Given the description of an element on the screen output the (x, y) to click on. 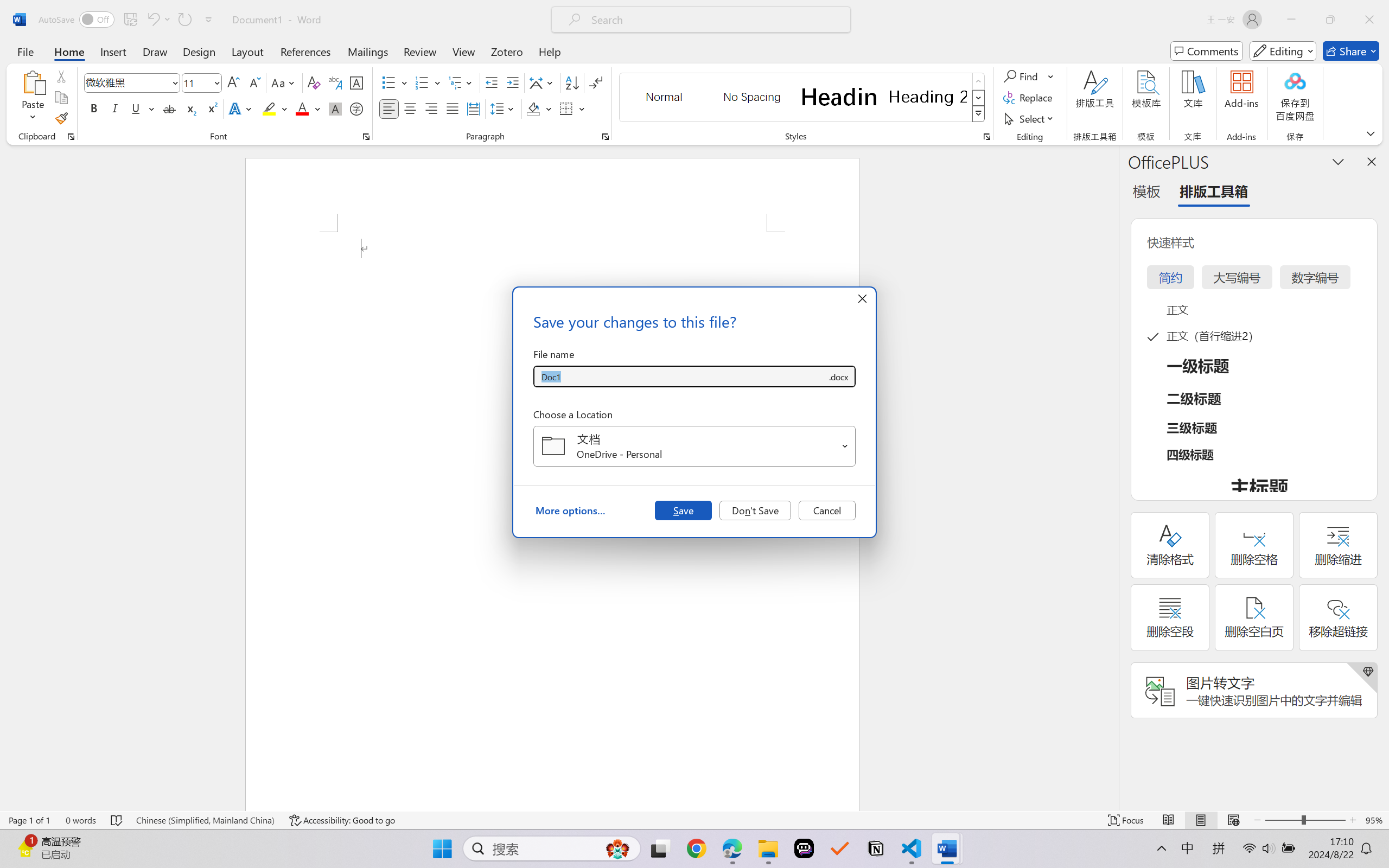
Don't Save (755, 509)
